Given the description of an element on the screen output the (x, y) to click on. 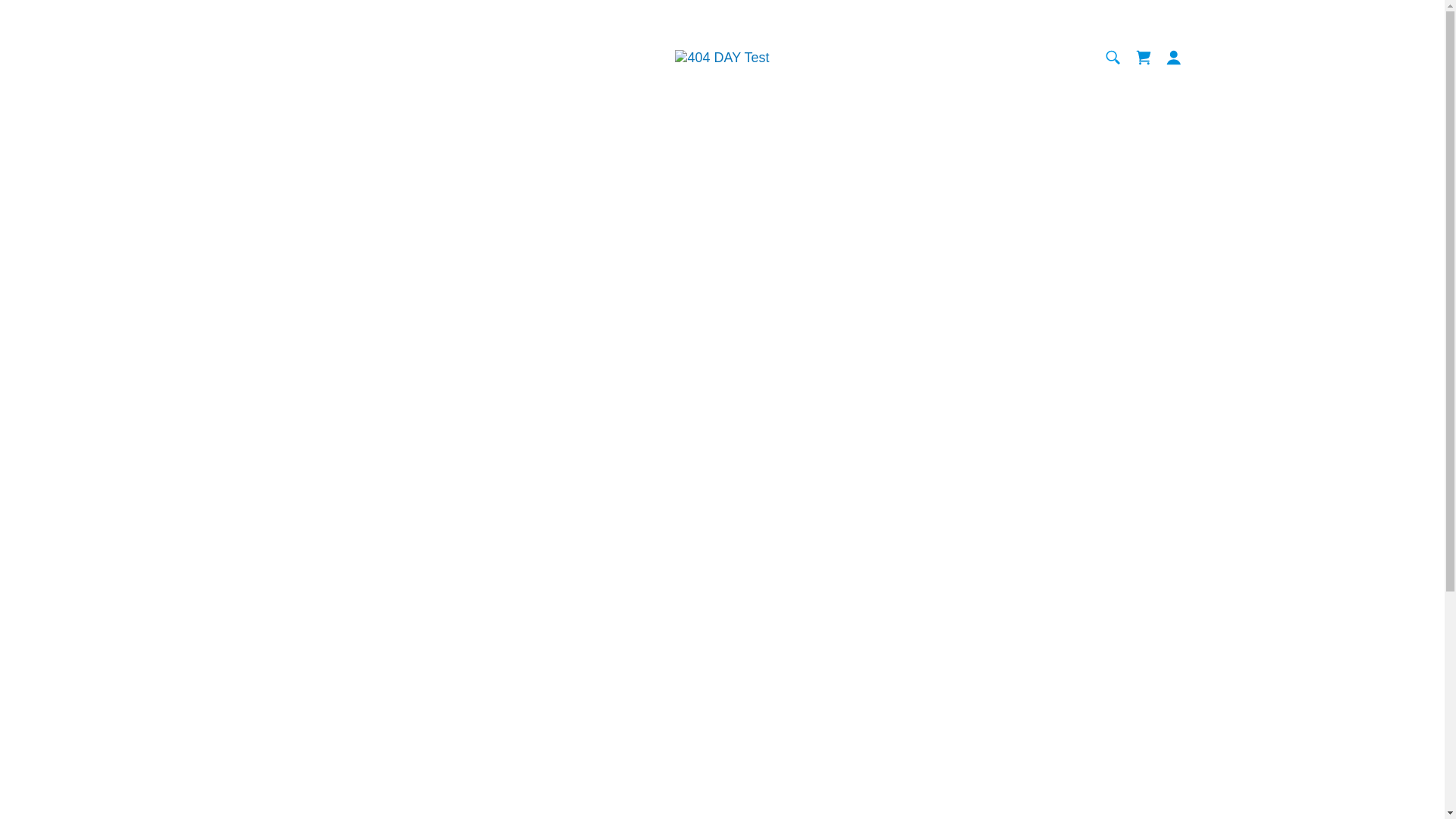
404 DAY Test Element type: hover (721, 56)
